Given the description of an element on the screen output the (x, y) to click on. 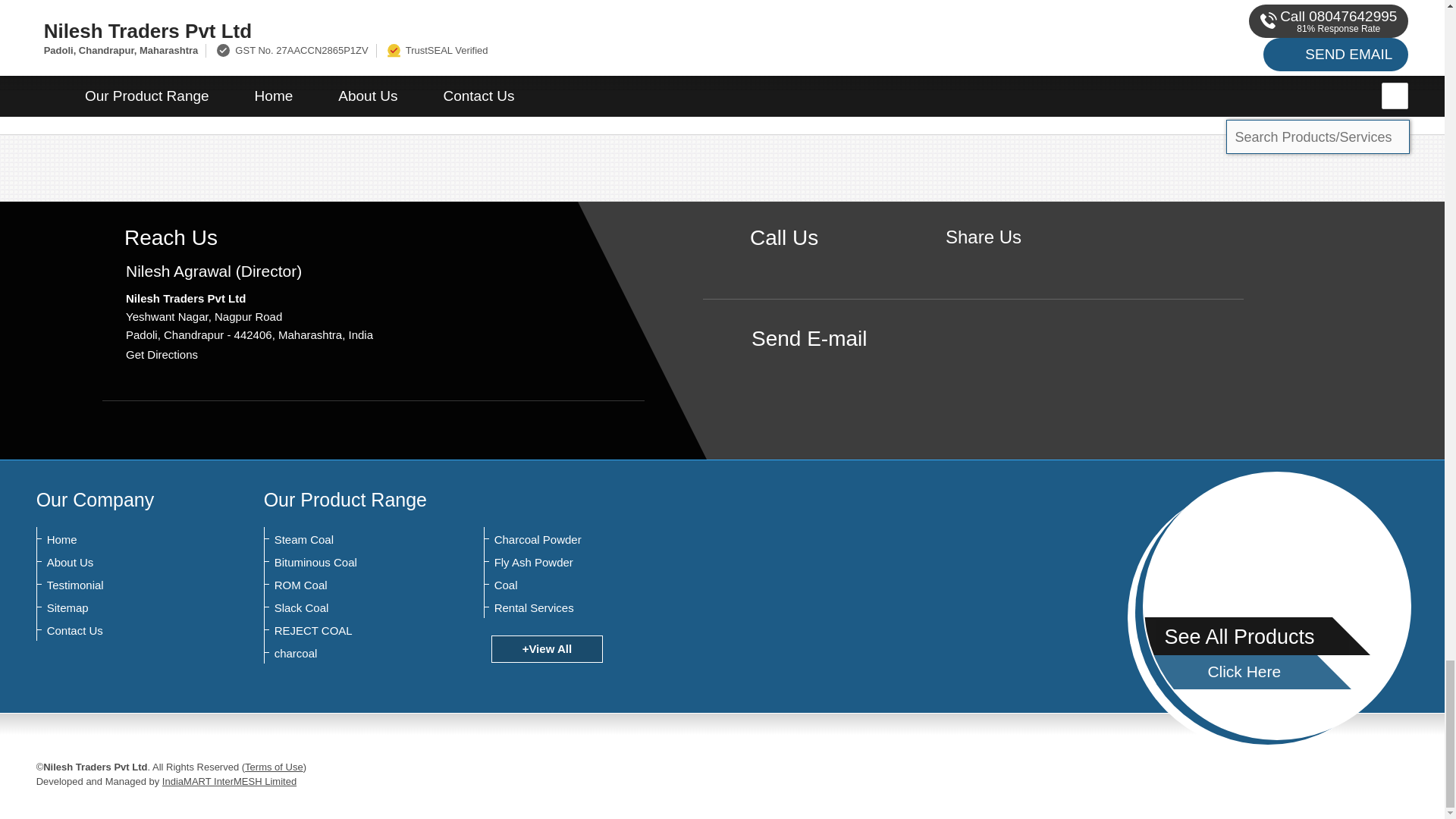
Home (121, 539)
Facebook (983, 262)
Testimonial (121, 585)
Get Directions (161, 354)
LinkedIn (1029, 262)
About Us (121, 562)
Twitter (1006, 262)
